Given the description of an element on the screen output the (x, y) to click on. 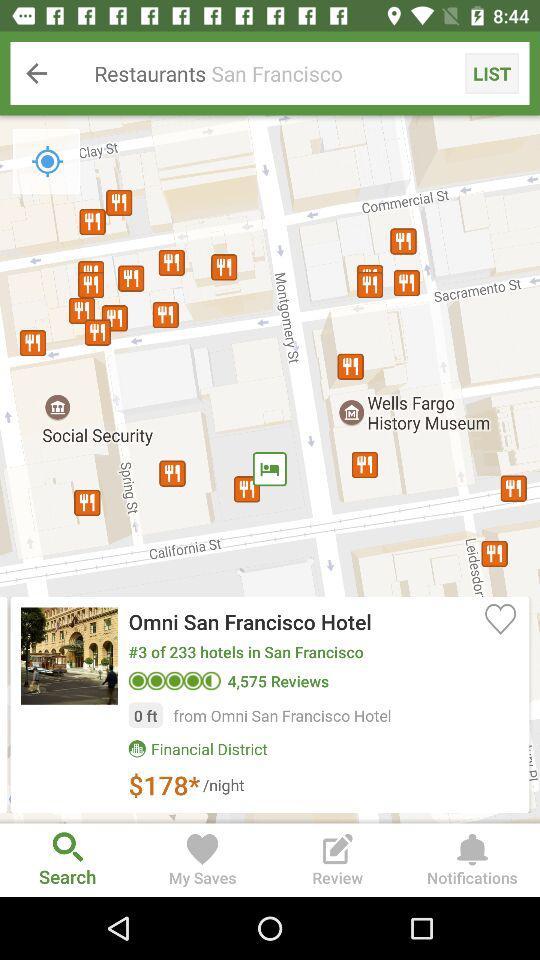
launch the item below restaurants san francisco icon (270, 469)
